Given the description of an element on the screen output the (x, y) to click on. 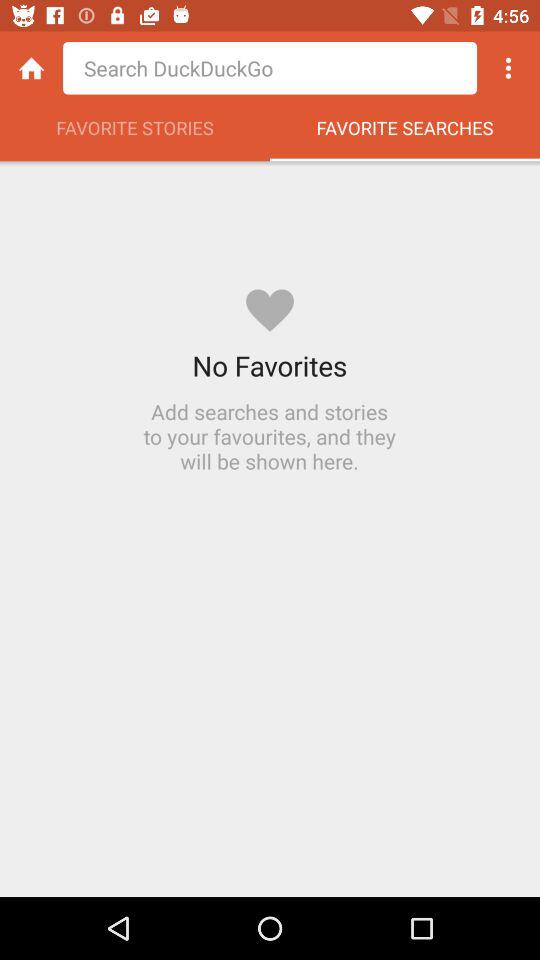
view options (508, 68)
